Given the description of an element on the screen output the (x, y) to click on. 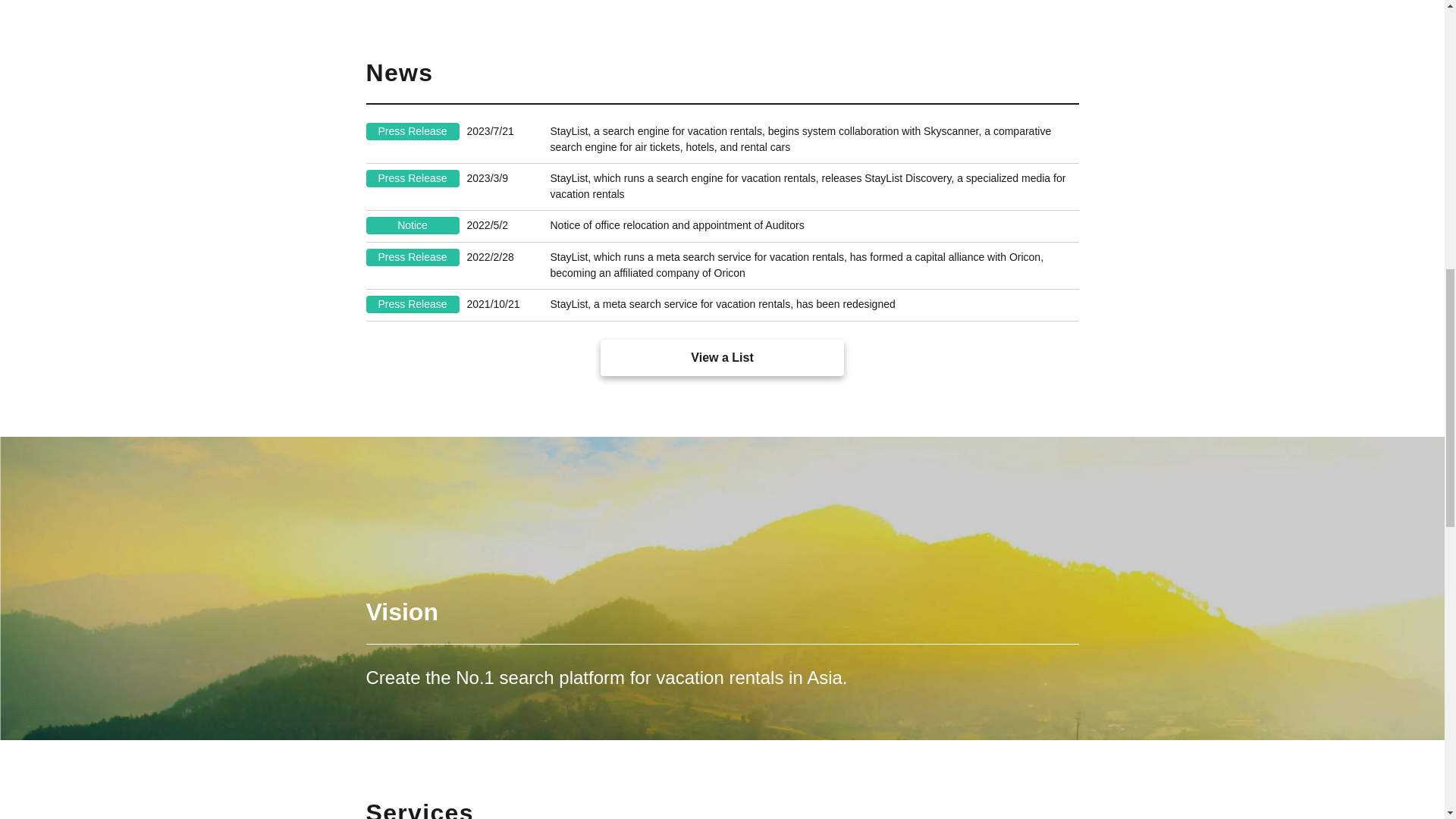
View a List (721, 357)
Notice of office relocation and appointment of Auditors (814, 225)
